Given the description of an element on the screen output the (x, y) to click on. 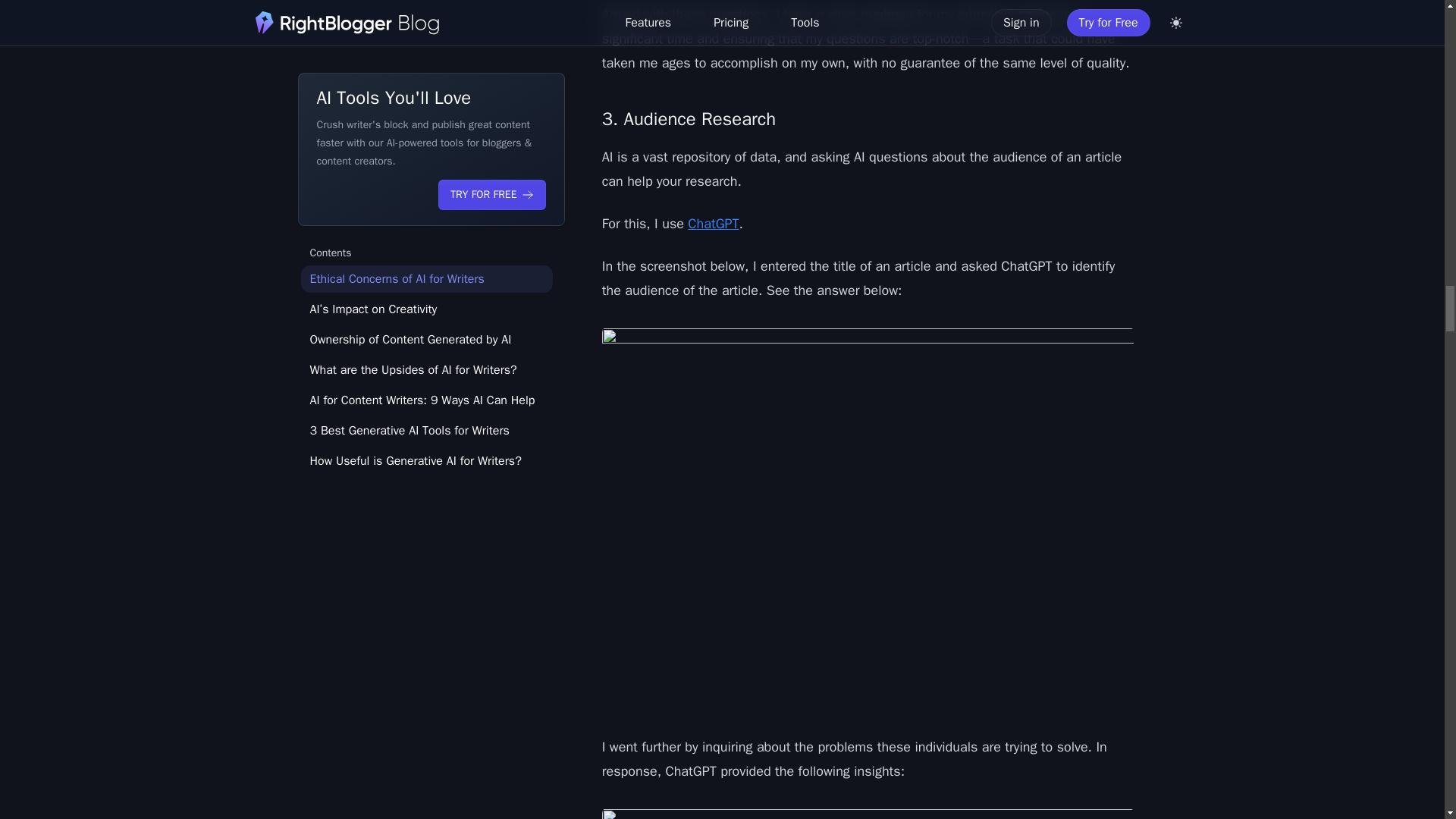
ChatGPT (712, 223)
